Given the description of an element on the screen output the (x, y) to click on. 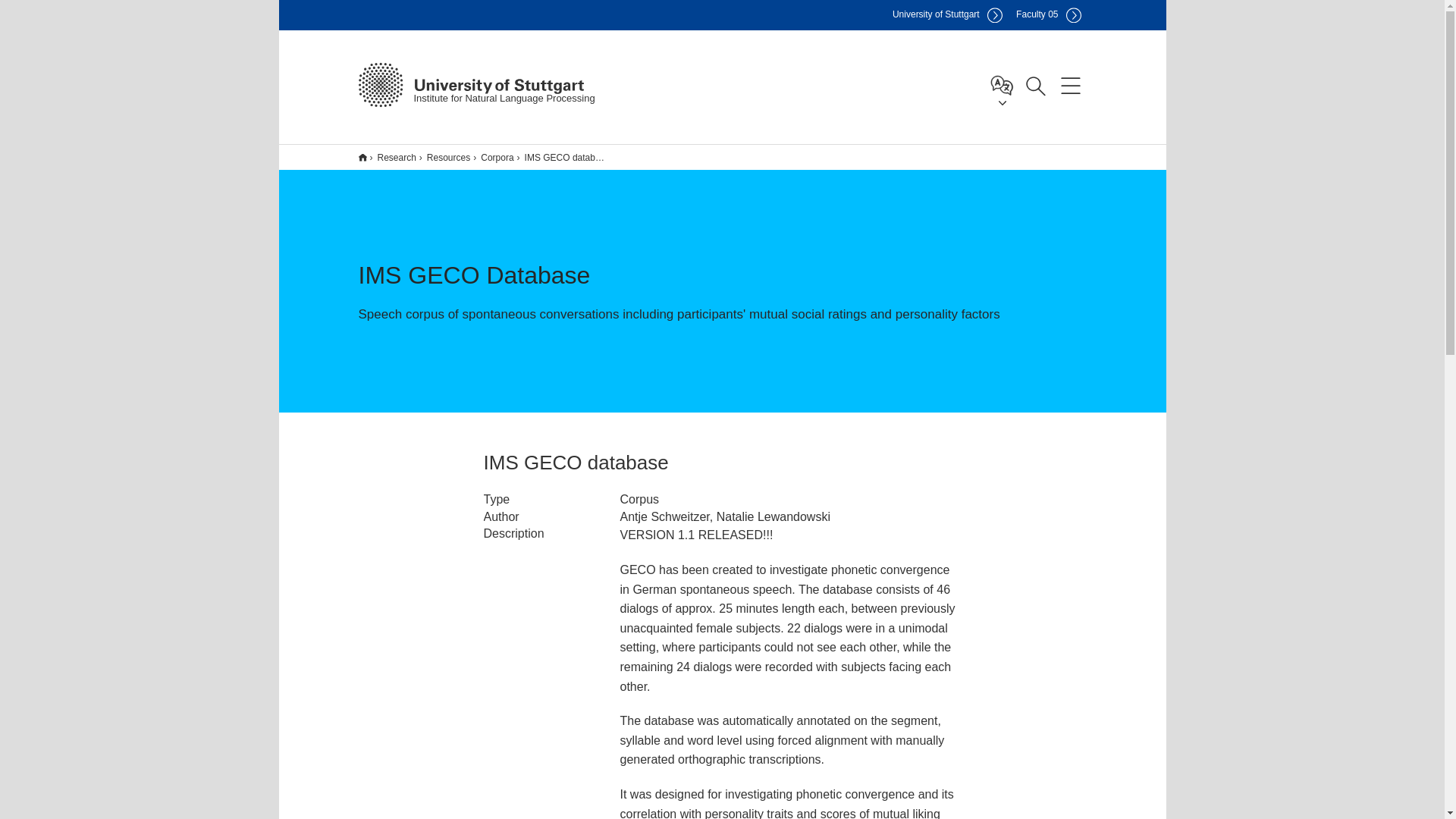
Corpora (491, 156)
University of Stuttgart (947, 15)
Faculty 05 (1048, 15)
search (1049, 177)
IMS GECO database (560, 156)
Search (1035, 84)
Research (391, 156)
IMS GECO database (562, 156)
Resources (444, 156)
Main navigation (1070, 84)
Resources (443, 156)
Institute for Natural Language Processing (470, 84)
